Given the description of an element on the screen output the (x, y) to click on. 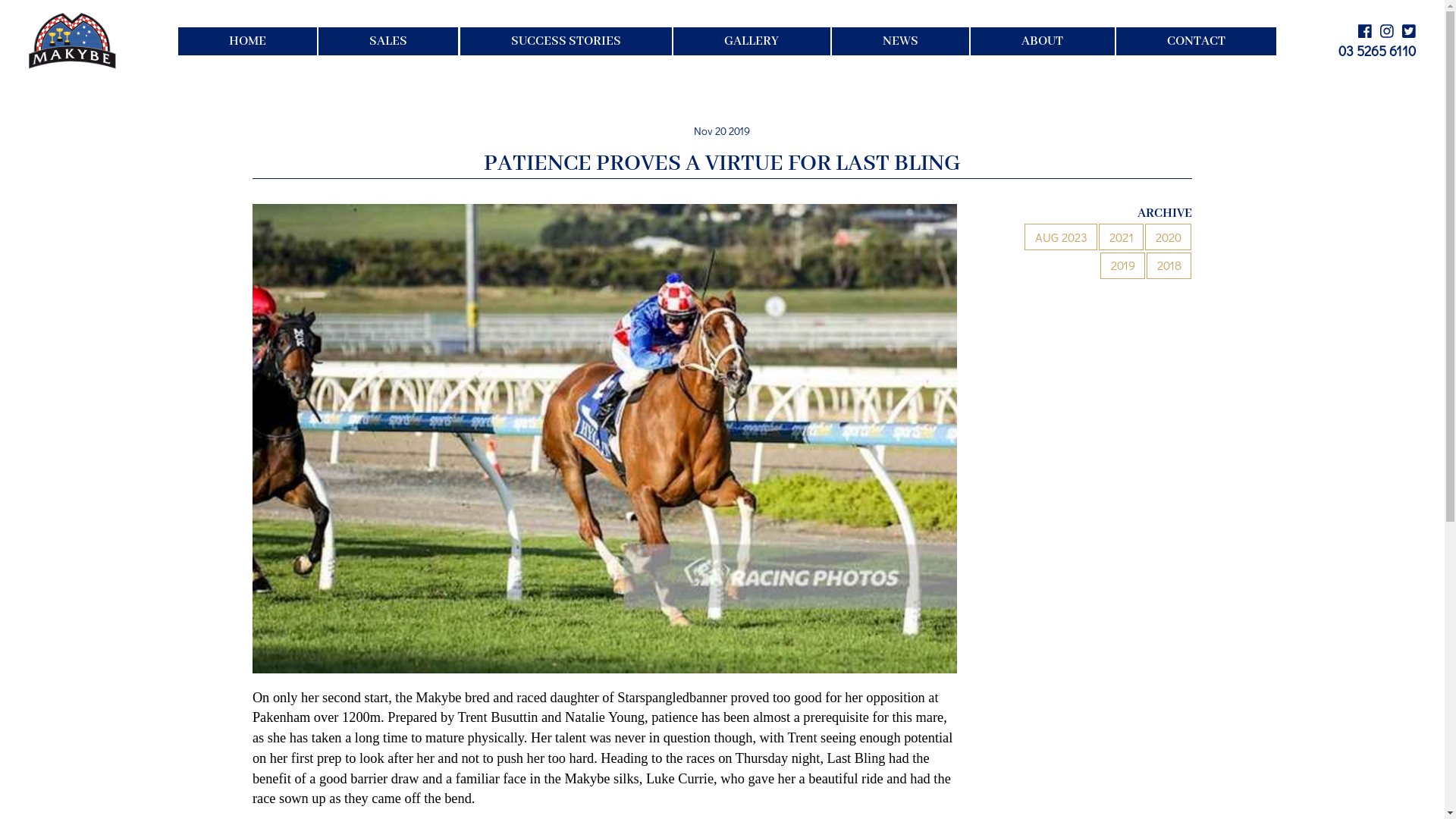
CONTACT Element type: text (1196, 41)
SALES Element type: text (388, 41)
HOME Element type: text (247, 41)
NEWS Element type: text (900, 41)
2021 Element type: text (1120, 236)
AUG 2023 Element type: text (1060, 236)
03 5265 6110 Element type: text (1376, 50)
GALLERY Element type: text (751, 41)
ABOUT Element type: text (1042, 41)
2019 Element type: text (1122, 265)
2018 Element type: text (1168, 265)
2020 Element type: text (1168, 236)
SUCCESS STORIES Element type: text (566, 41)
